Given the description of an element on the screen output the (x, y) to click on. 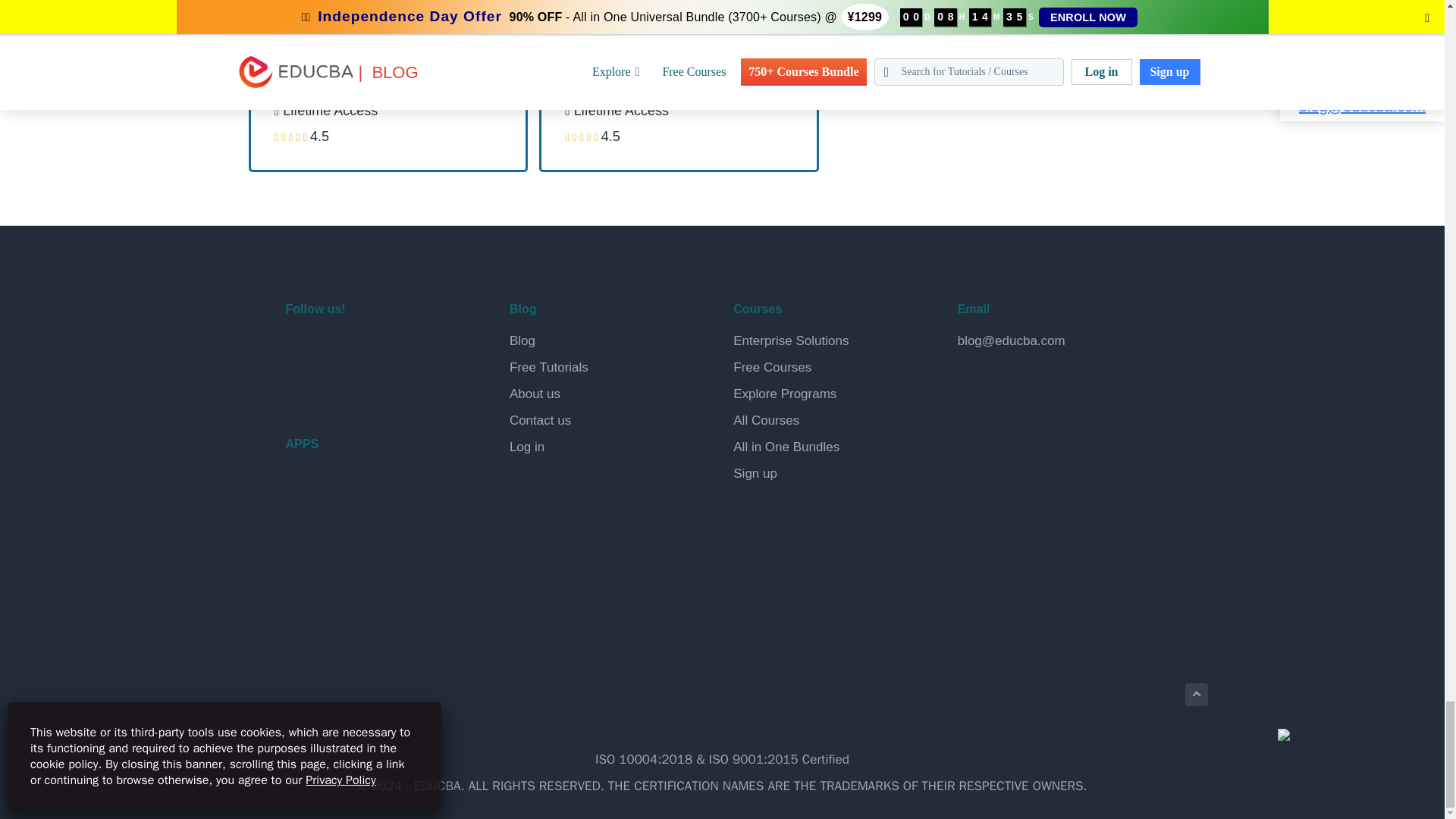
EDUCBA Android App (360, 498)
EDUCBA Coursera (336, 387)
EDUCBA LinkedIN (371, 349)
EDUCBA iOS App (360, 562)
EDUCBA Youtube (300, 387)
EDUCBA Udemy (371, 387)
EDUCBA Instagram (408, 349)
EDUCBA Facebook (300, 349)
EDUCBA Twitter (336, 349)
